Given the description of an element on the screen output the (x, y) to click on. 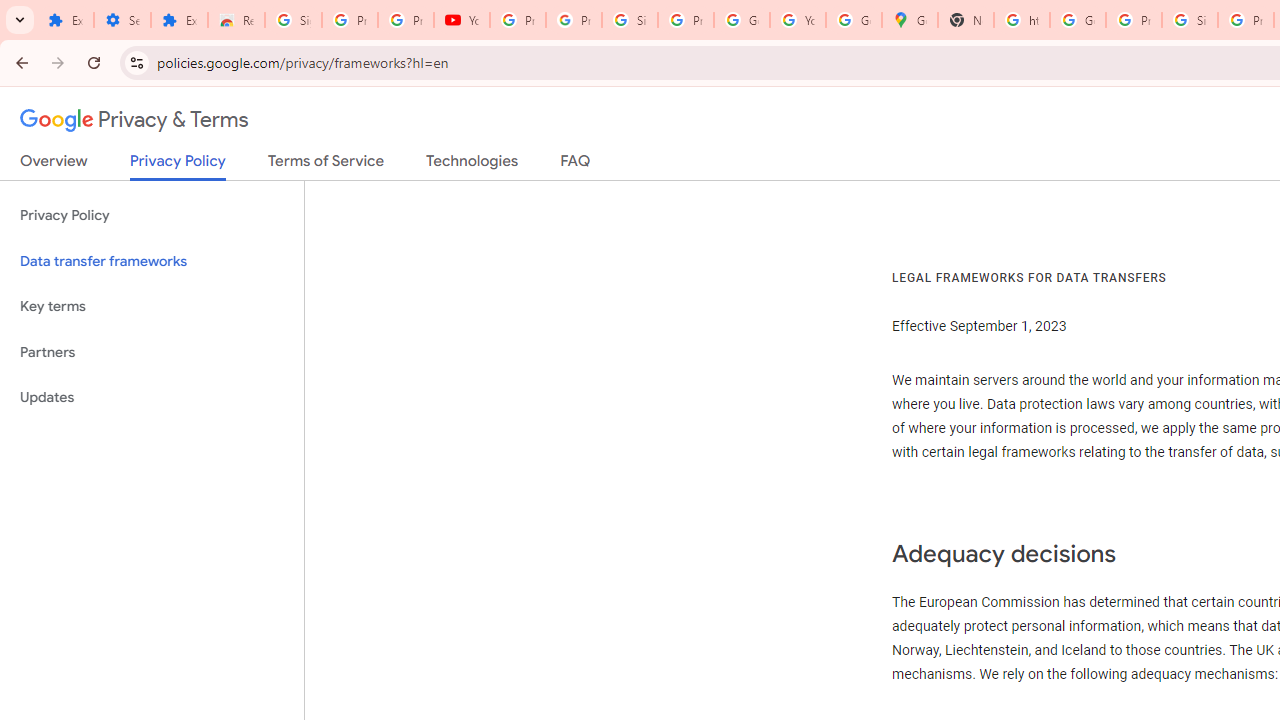
Google Account (742, 20)
Extensions (65, 20)
Reviews: Helix Fruit Jump Arcade Game (235, 20)
New Tab (966, 20)
Settings (122, 20)
YouTube (797, 20)
